Given the description of an element on the screen output the (x, y) to click on. 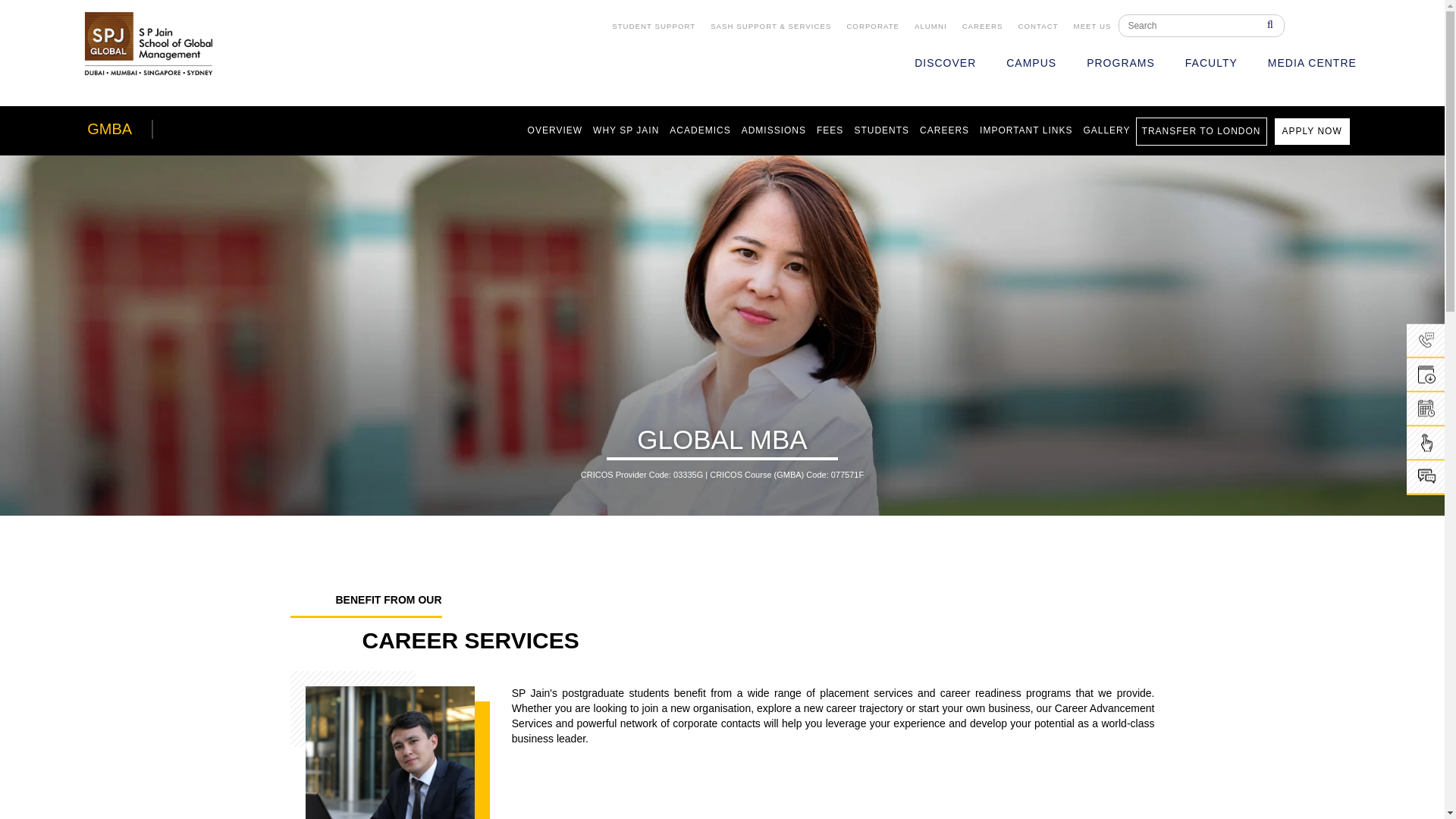
CORPORATE (872, 26)
Career Services (389, 752)
DISCOVER (945, 63)
CONTACT (1037, 26)
Submit (1267, 25)
PROGRAMS (1120, 63)
MEET US (1092, 26)
CAREERS (982, 26)
STUDENT SUPPORT (653, 26)
SP Jain School of Global Management (148, 43)
SP Jain School of Global Management (148, 43)
ALUMNI (931, 26)
CAMPUS (1031, 63)
